Given the description of an element on the screen output the (x, y) to click on. 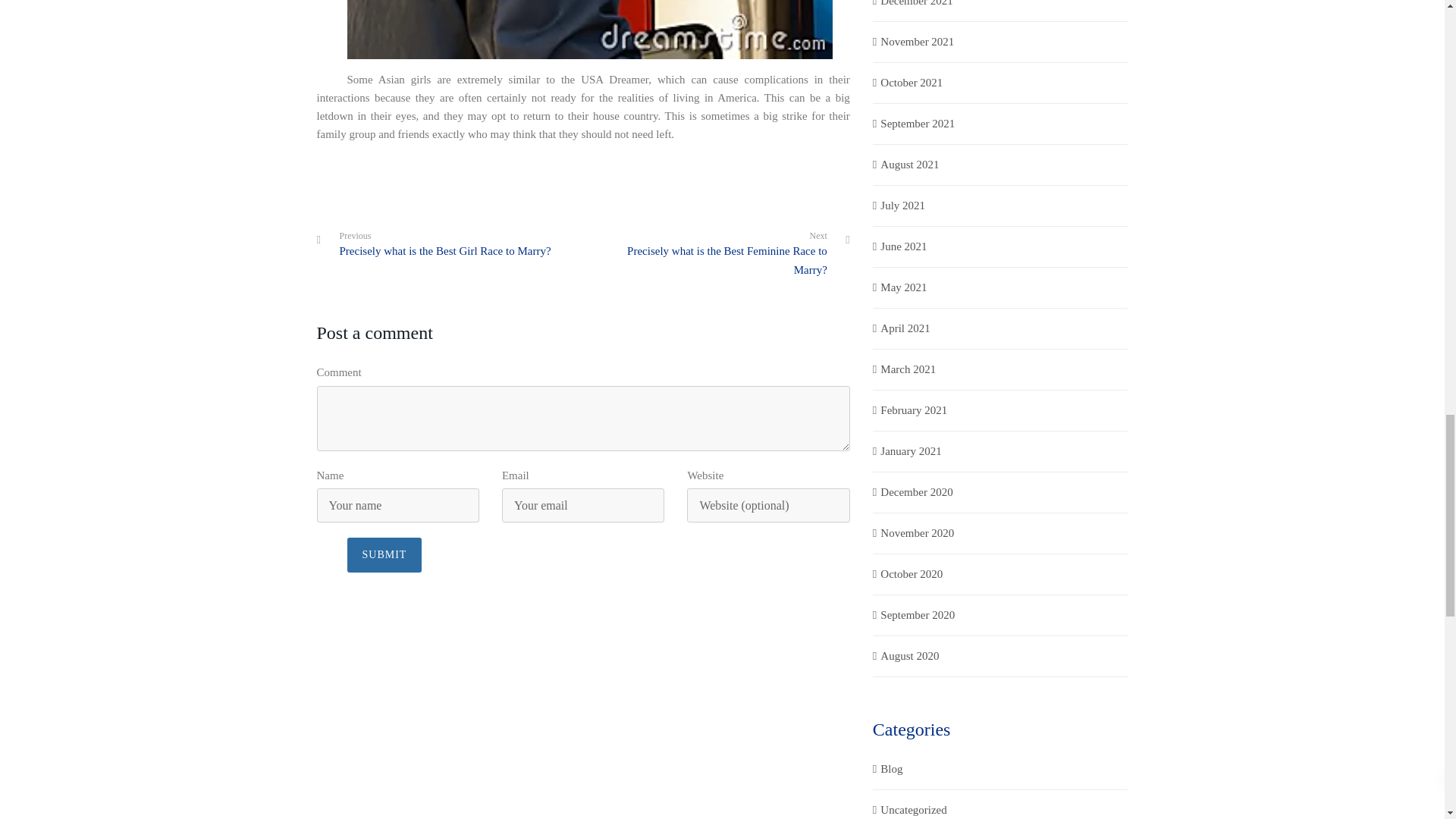
Submit (384, 554)
